Given the description of an element on the screen output the (x, y) to click on. 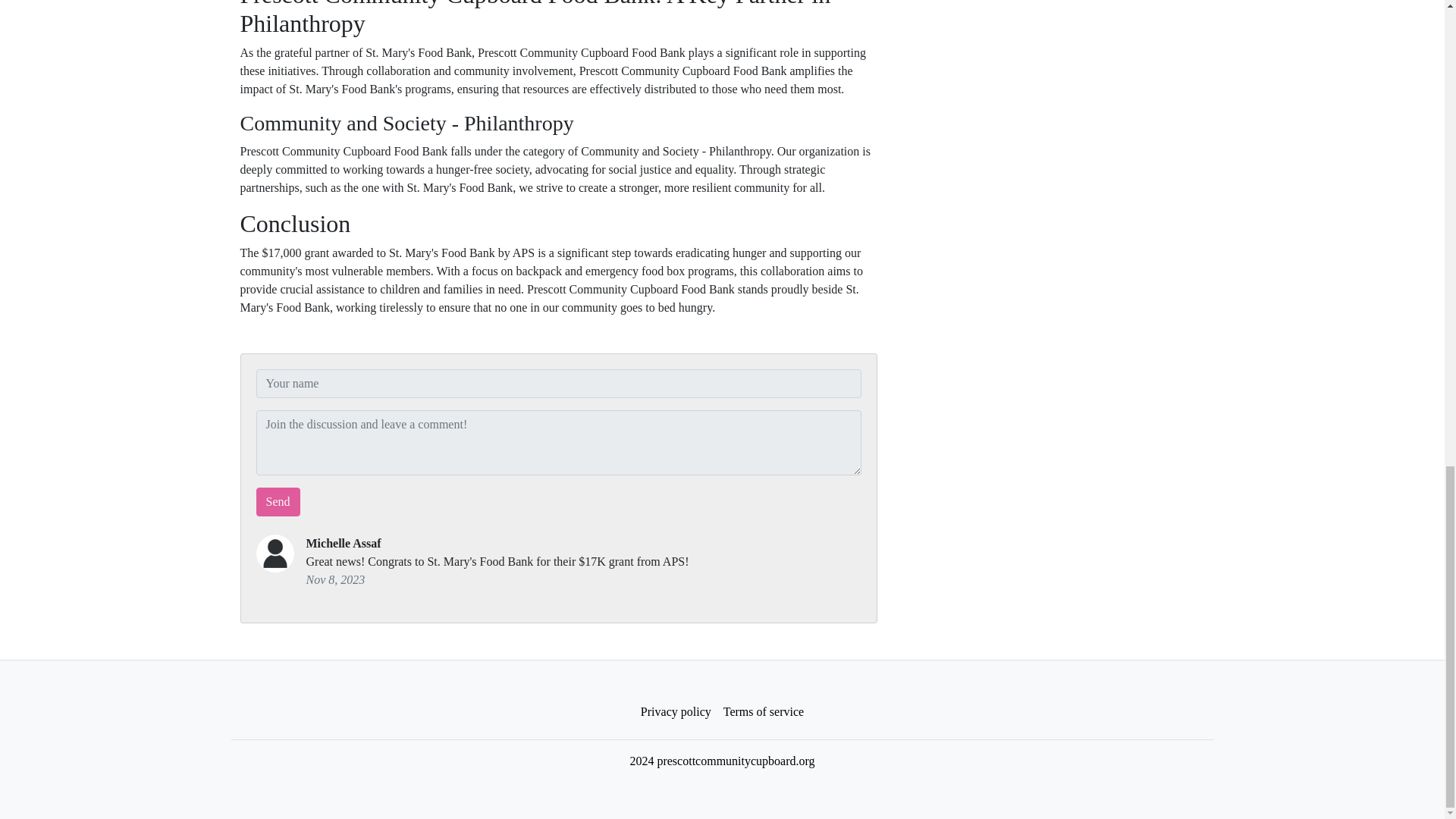
Send (277, 501)
Send (277, 501)
Terms of service (763, 711)
Privacy policy (675, 711)
